Given the description of an element on the screen output the (x, y) to click on. 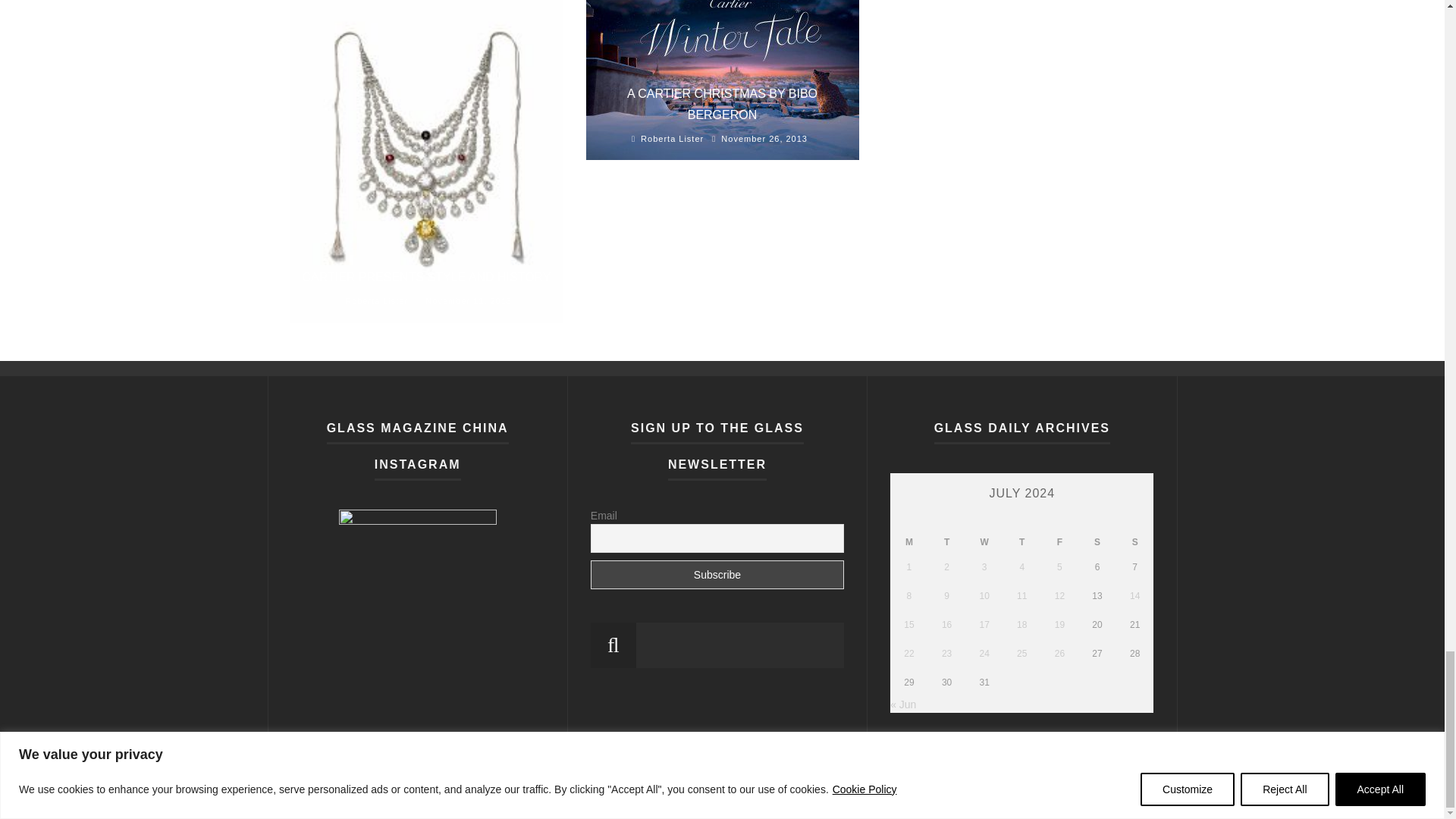
Subscribe (717, 574)
